Given the description of an element on the screen output the (x, y) to click on. 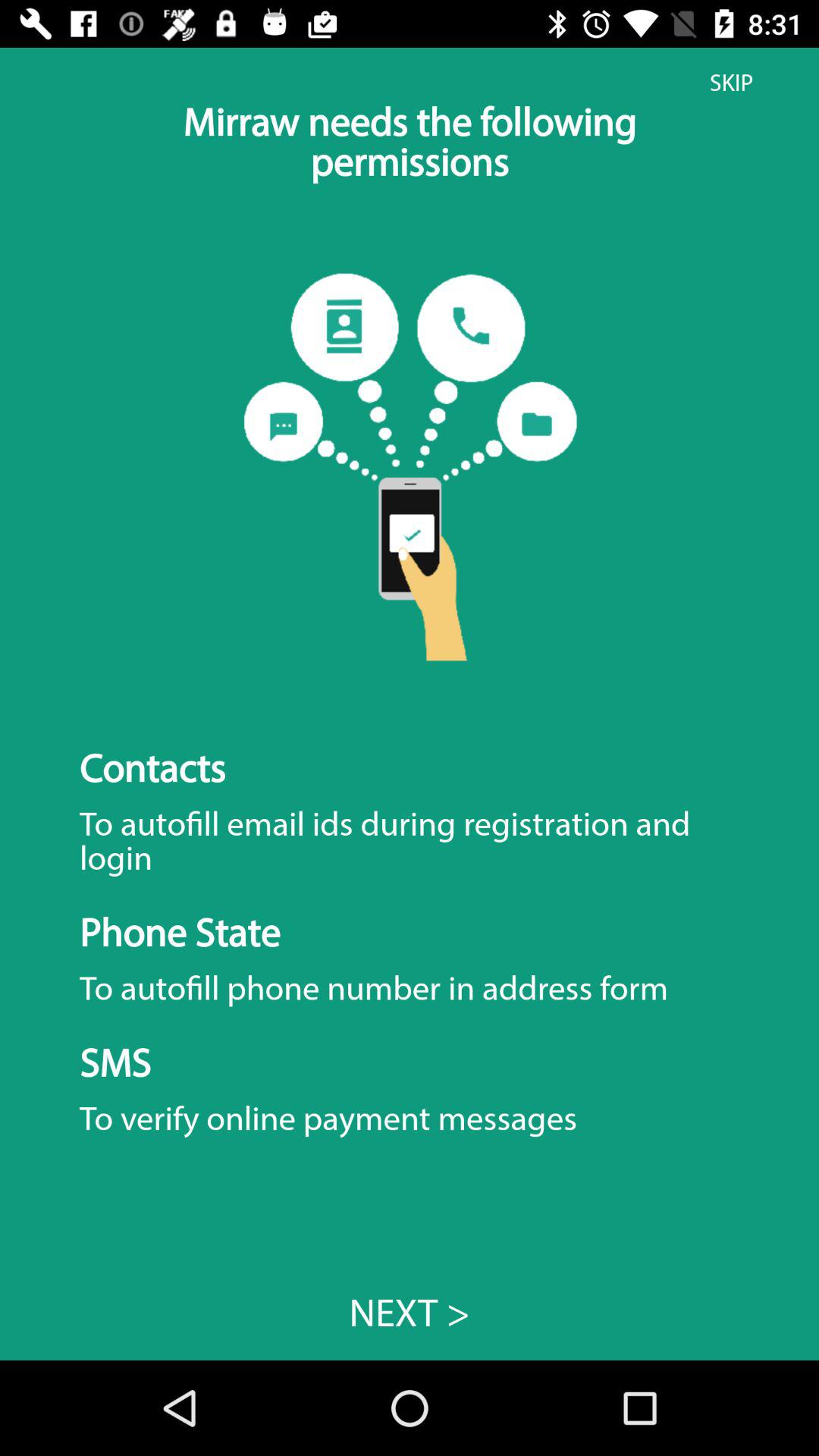
launch the icon below to verify online icon (409, 1312)
